Given the description of an element on the screen output the (x, y) to click on. 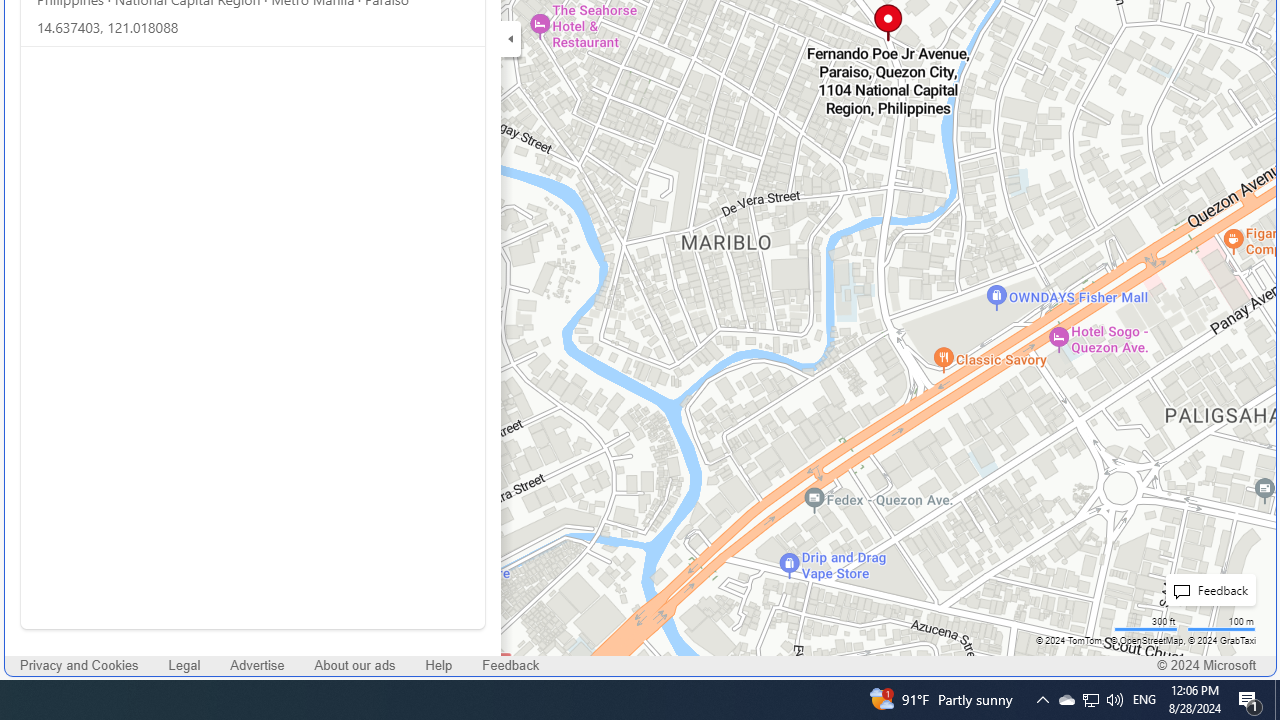
About our ads (354, 665)
Legal (184, 665)
About our ads (354, 665)
Expand/Collapse Cards (510, 38)
Legal (183, 665)
Help (438, 665)
Help (438, 665)
Advertise (257, 665)
Privacy and Cookies (79, 665)
Advertise (257, 665)
Privacy and Cookies (79, 665)
